Given the description of an element on the screen output the (x, y) to click on. 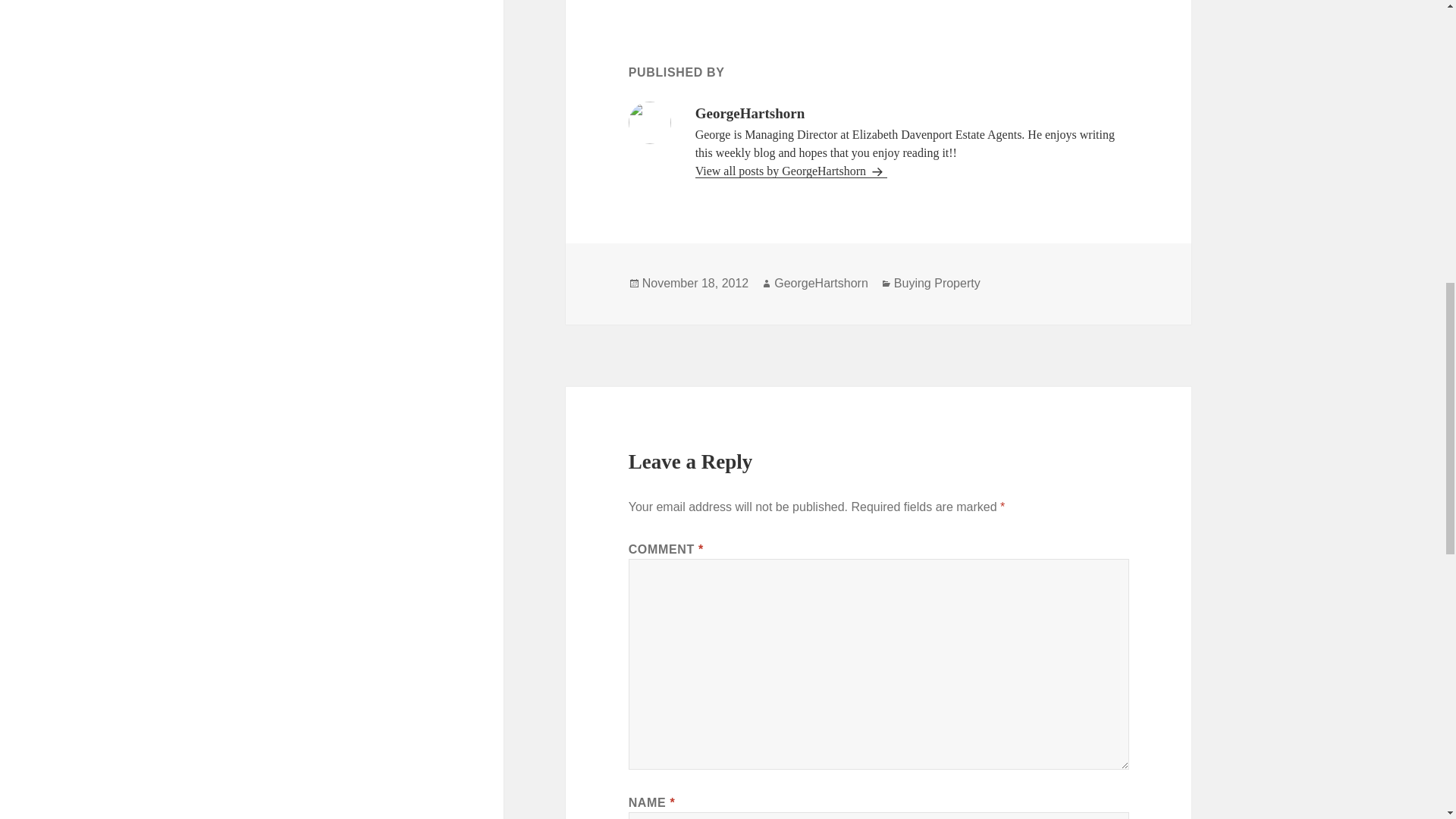
GeorgeHartshorn (820, 283)
Buying Property (936, 283)
View all posts by GeorgeHartshorn (790, 171)
November 18, 2012 (695, 283)
